Given the description of an element on the screen output the (x, y) to click on. 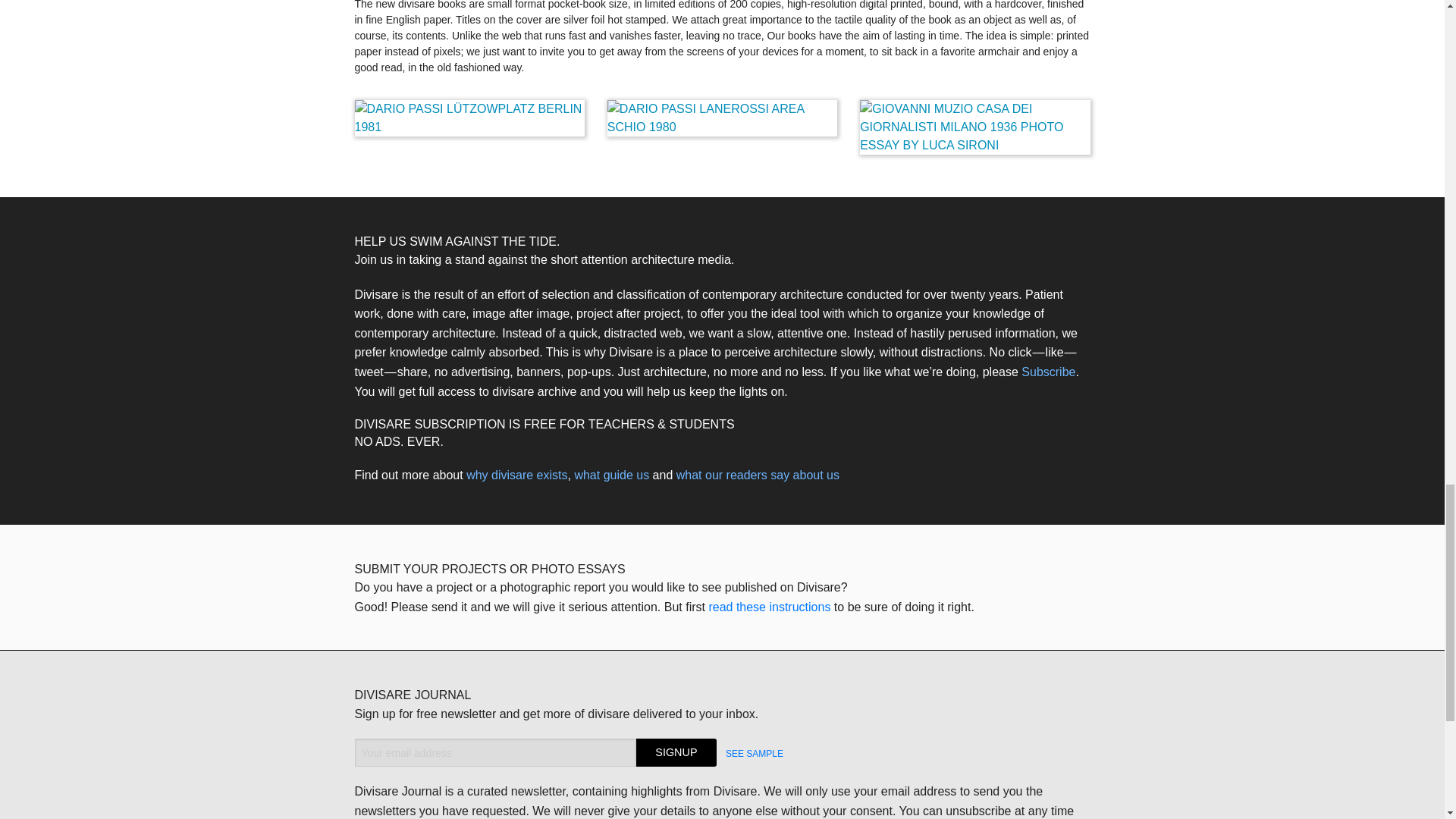
DARIO PASSI  LANEROSSI AREA  SCHIO 1980 (722, 117)
Signup (676, 752)
